Given the description of an element on the screen output the (x, y) to click on. 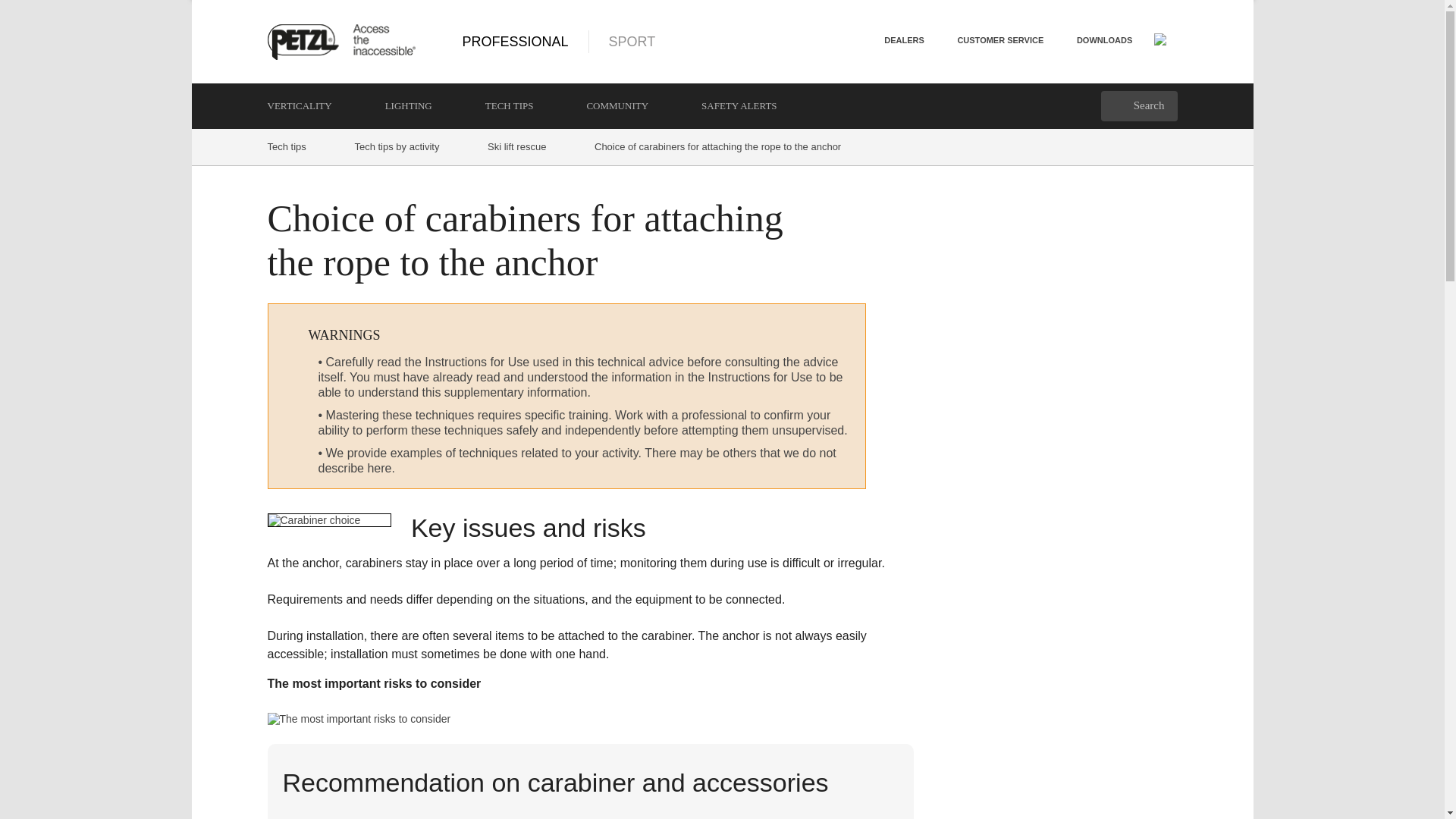
PROFESSIONAL (516, 40)
DEALERS (903, 39)
CUSTOMER SERVICE (999, 39)
SPORT (612, 41)
DOWNLOADS (1104, 39)
